Given the description of an element on the screen output the (x, y) to click on. 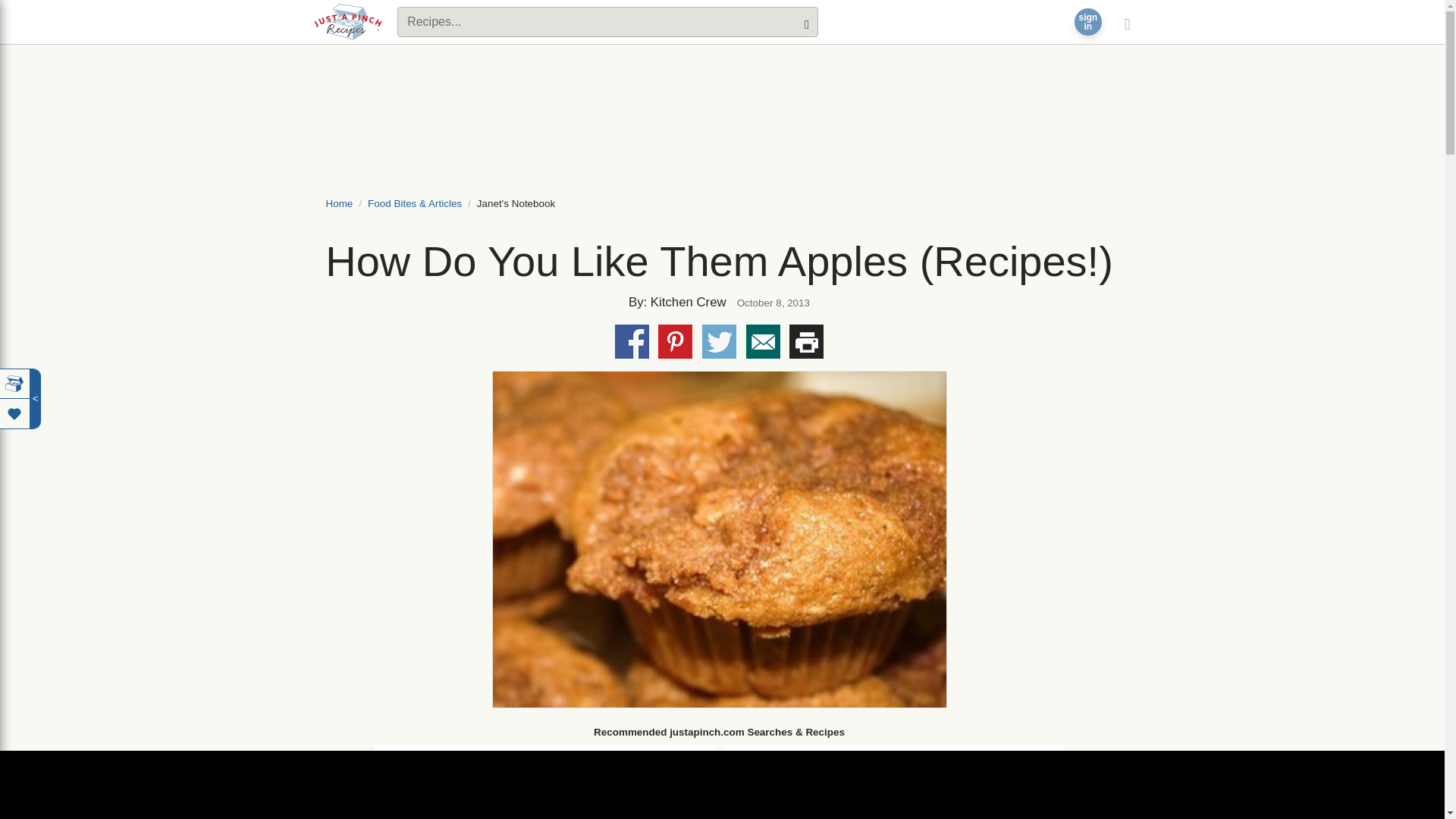
... (743, 794)
Print (806, 341)
... (743, 816)
... (392, 816)
Share on Pinterest (675, 341)
Just A Pinch (348, 22)
Share on Facebook (631, 341)
... (743, 767)
Home (339, 203)
Share on X (1088, 21)
Save Recipe (718, 341)
Share in Email (14, 413)
